Given the description of an element on the screen output the (x, y) to click on. 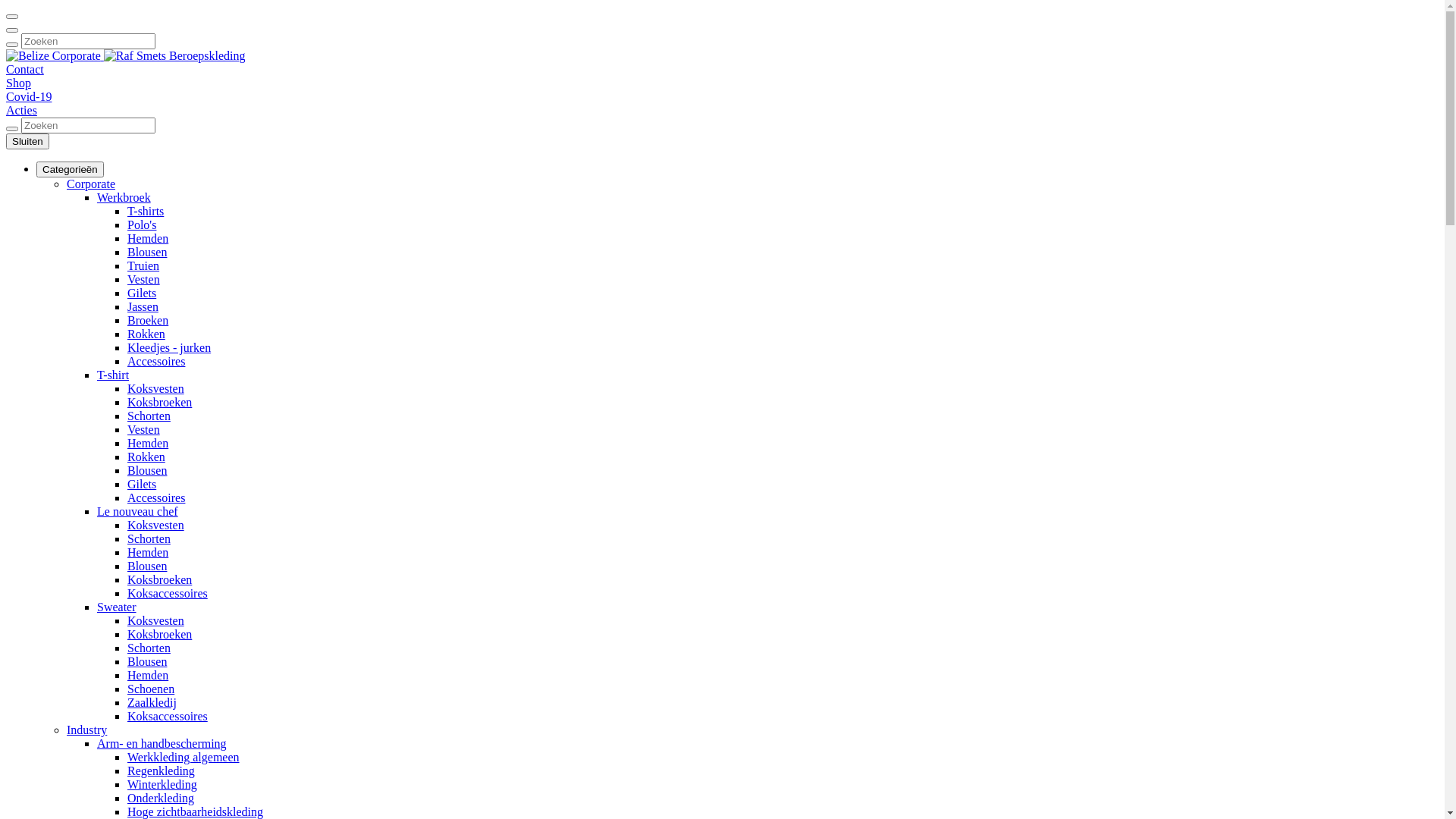
Onderkleding Element type: text (160, 797)
T-shirt Element type: text (112, 374)
Schoenen Element type: text (150, 688)
Polo's Element type: text (141, 224)
Acties Element type: text (21, 109)
Vesten Element type: text (143, 429)
Hoge zichtbaarheidskleding Element type: text (195, 811)
Arm- en handbescherming Element type: text (161, 743)
Gilets Element type: text (141, 292)
Blousen Element type: text (146, 661)
Contact Element type: text (24, 68)
Broeken Element type: text (147, 319)
Blousen Element type: text (146, 251)
Hemden Element type: text (147, 552)
Accessoires Element type: text (156, 497)
Koksaccessoires Element type: text (167, 592)
Koksbroeken Element type: text (159, 401)
Corporate Element type: text (90, 183)
Koksvesten Element type: text (155, 620)
Hemden Element type: text (147, 238)
Blousen Element type: text (146, 565)
T-shirts Element type: text (145, 210)
Koksbroeken Element type: text (159, 633)
Accessoires Element type: text (156, 360)
Zaalkledij Element type: text (151, 702)
Le nouveau chef Element type: text (137, 511)
Koksvesten Element type: text (155, 524)
Schorten Element type: text (148, 415)
Zoeken Element type: hover (12, 128)
Hemden Element type: text (147, 674)
Koksaccessoires Element type: text (167, 715)
Schorten Element type: text (148, 647)
Zoeken Element type: hover (12, 44)
Covid-19 Element type: text (28, 96)
Truien Element type: text (143, 265)
Schorten Element type: text (148, 538)
Rokken Element type: text (146, 456)
Gilets Element type: text (141, 483)
Koksvesten Element type: text (155, 388)
Industry Element type: text (86, 729)
Sluiten Element type: text (27, 141)
Blousen Element type: text (146, 470)
Jassen Element type: text (142, 306)
Hemden Element type: text (147, 442)
Vesten Element type: text (143, 279)
Zoeken Element type: hover (12, 30)
Winterkleding Element type: text (162, 784)
Rokken Element type: text (146, 333)
Werkkleding algemeen Element type: text (183, 756)
Kleedjes - jurken Element type: text (168, 347)
Koksbroeken Element type: text (159, 579)
Werkbroek Element type: text (123, 197)
Shop Element type: text (18, 82)
Sweater Element type: text (116, 606)
Regenkleding Element type: text (160, 770)
